Given the description of an element on the screen output the (x, y) to click on. 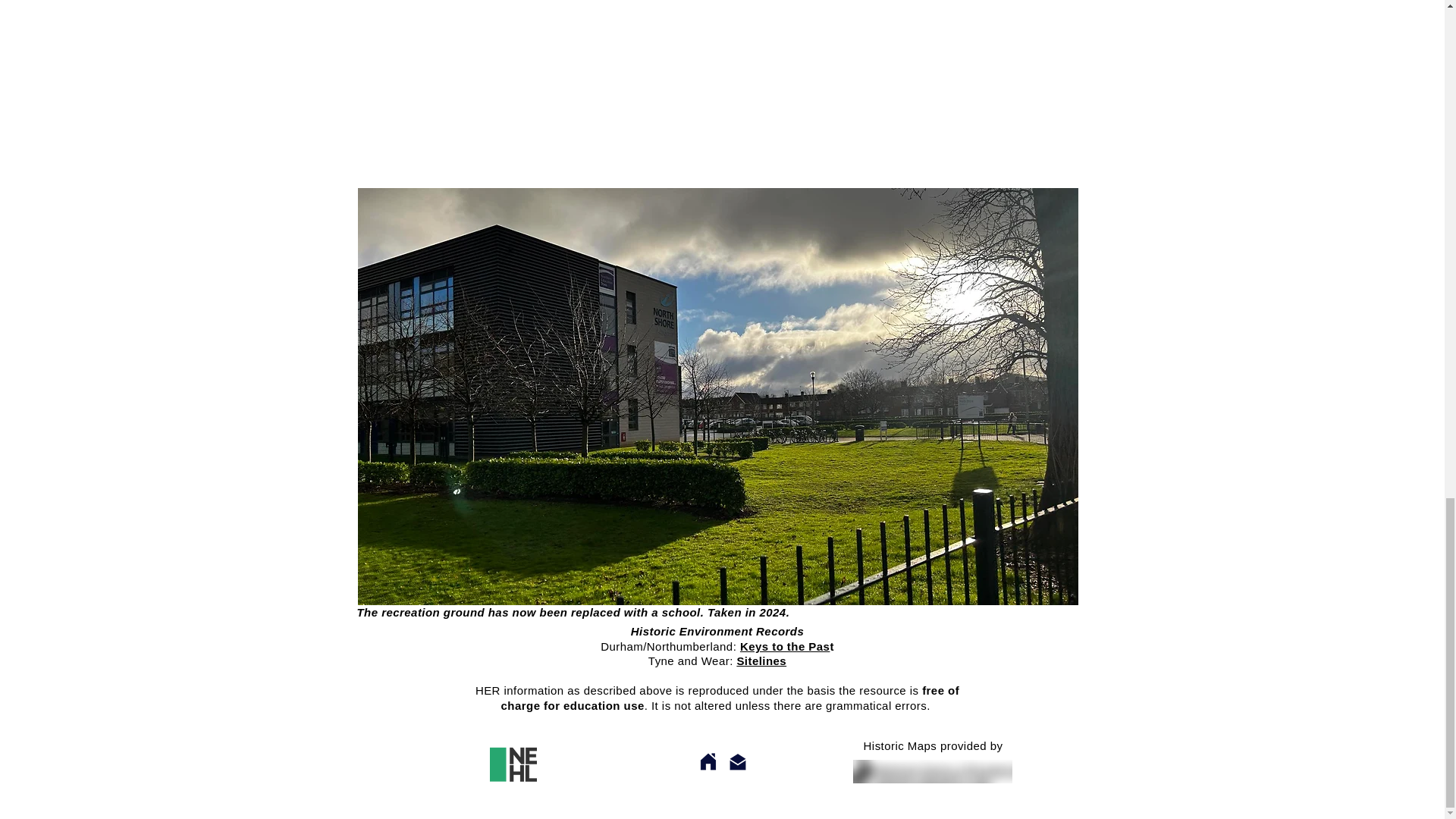
Contact us (898, 516)
Sitelines (761, 660)
Keys to the Pas (784, 645)
